Given the description of an element on the screen output the (x, y) to click on. 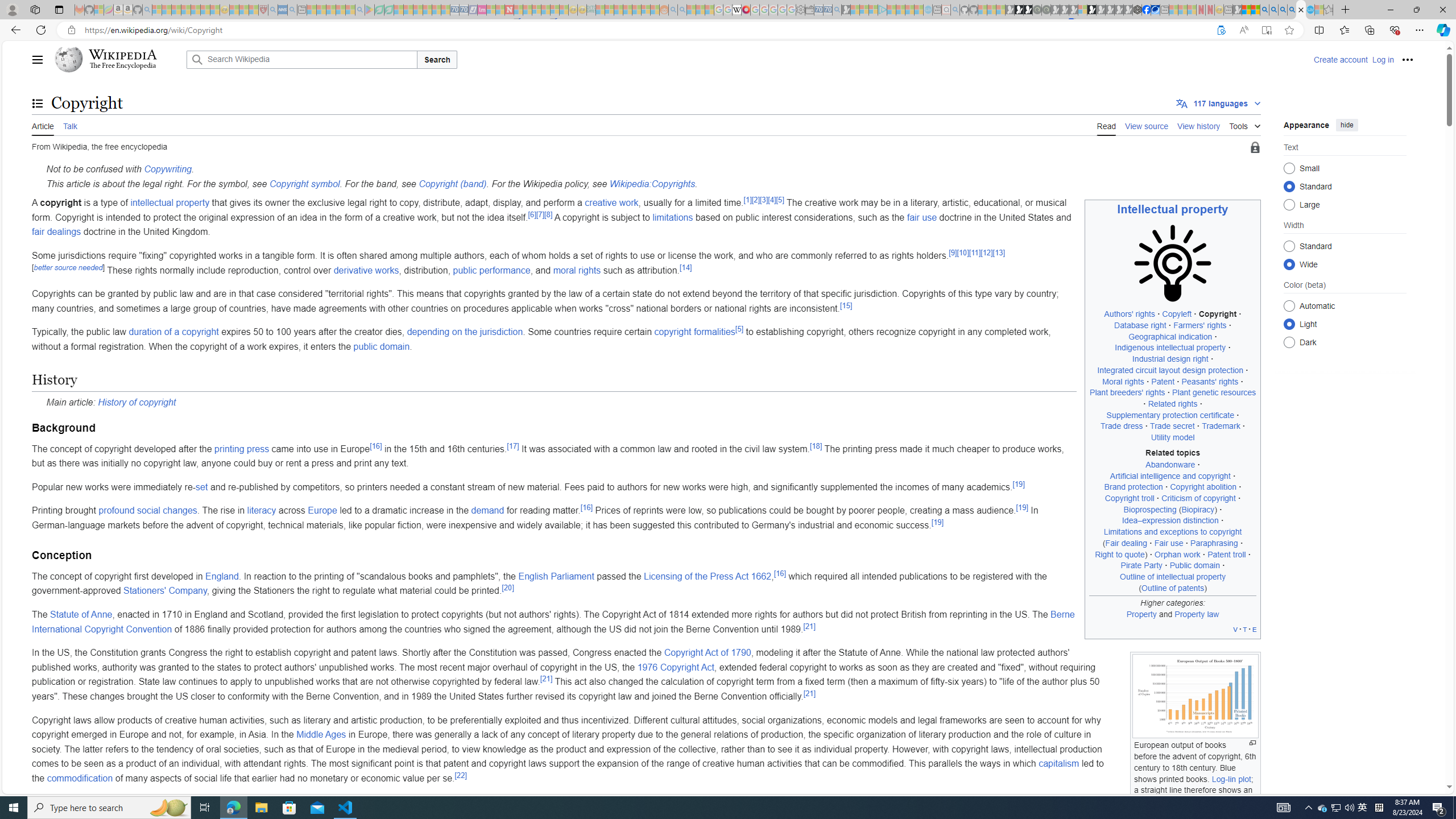
Industrial design right (1169, 358)
depending on the jurisdiction (464, 331)
demand (486, 510)
printing press (241, 448)
Indigenous intellectual property (1170, 347)
t (1245, 628)
Brand protection (1133, 487)
limitations (672, 217)
[3] (764, 198)
Jobs - lastminute.com Investor Portal - Sleeping (482, 9)
Wallet - Sleeping (809, 9)
